Given the description of an element on the screen output the (x, y) to click on. 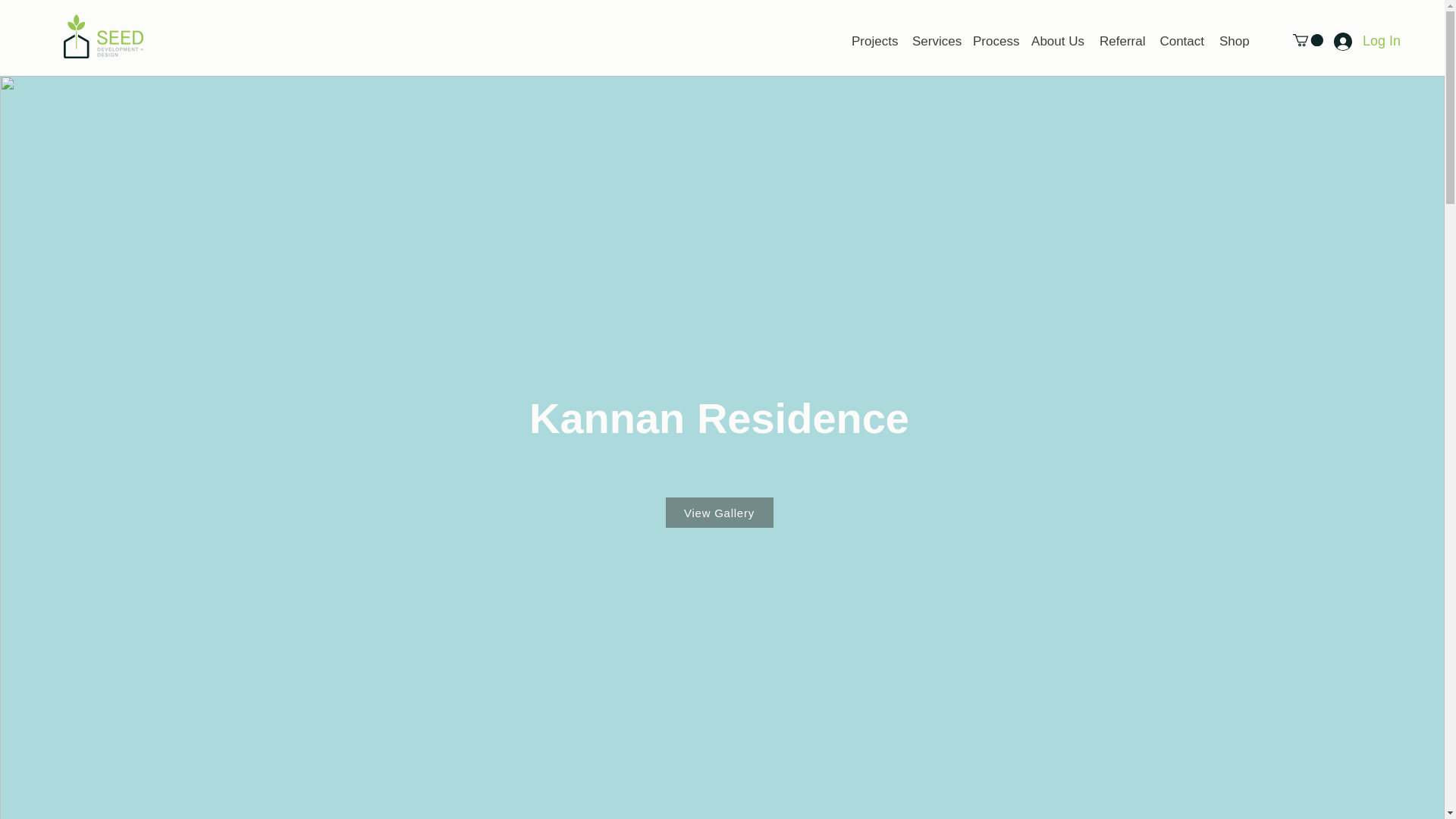
Process (994, 41)
Services (934, 41)
Shop (1233, 41)
Log In (1351, 41)
View Gallery (719, 512)
About Us (1057, 41)
Referral (1121, 41)
Contact (1181, 41)
Projects (874, 41)
